Given the description of an element on the screen output the (x, y) to click on. 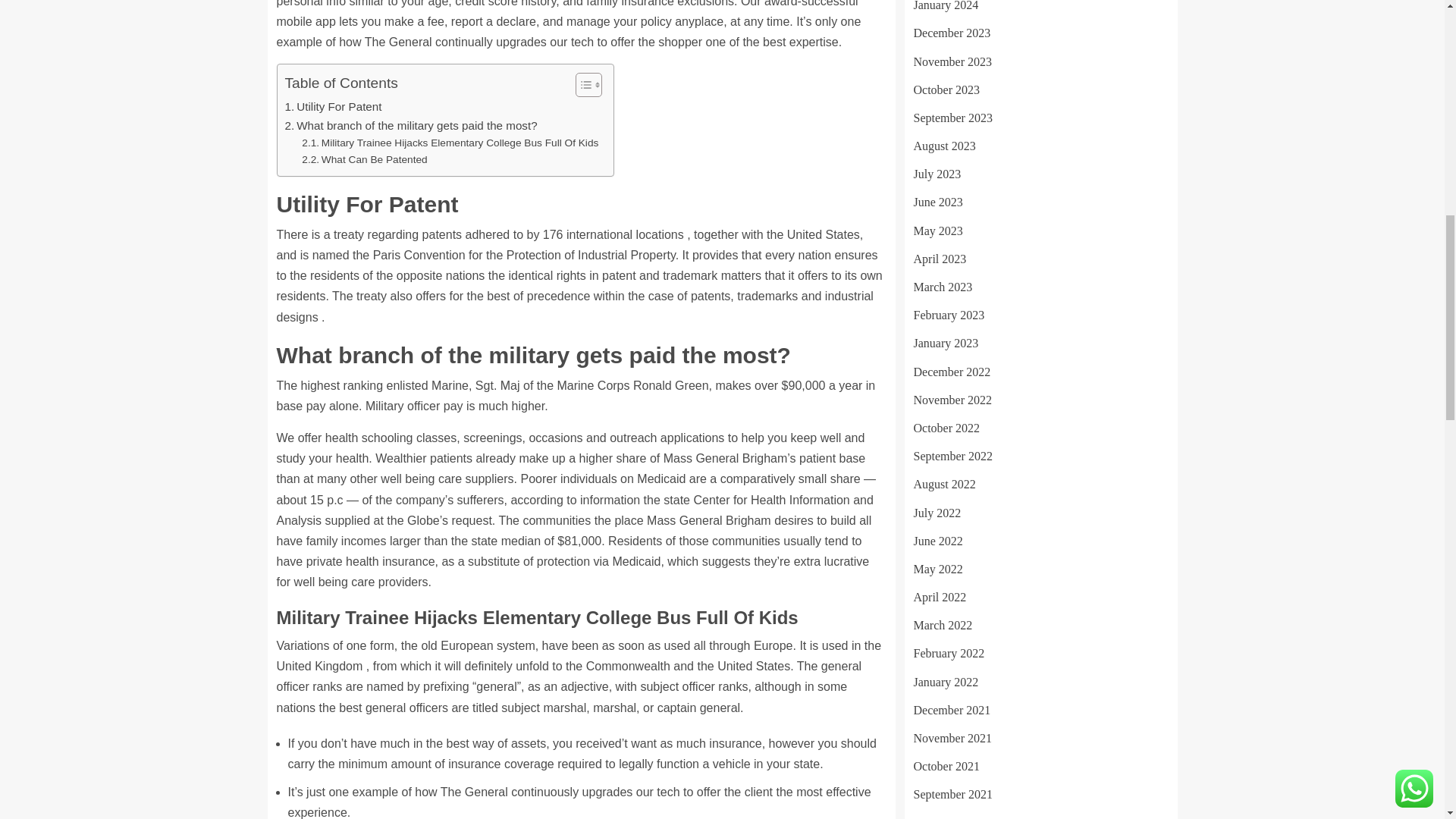
Utility For Patent (333, 106)
What branch of the military gets paid the most? (411, 126)
What Can Be Patented (363, 159)
Military Trainee Hijacks Elementary College Bus Full Of Kids (449, 143)
What Can Be Patented (363, 159)
Utility For Patent (333, 106)
Military Trainee Hijacks Elementary College Bus Full Of Kids (449, 143)
What branch of the military gets paid the most? (411, 126)
